Given the description of an element on the screen output the (x, y) to click on. 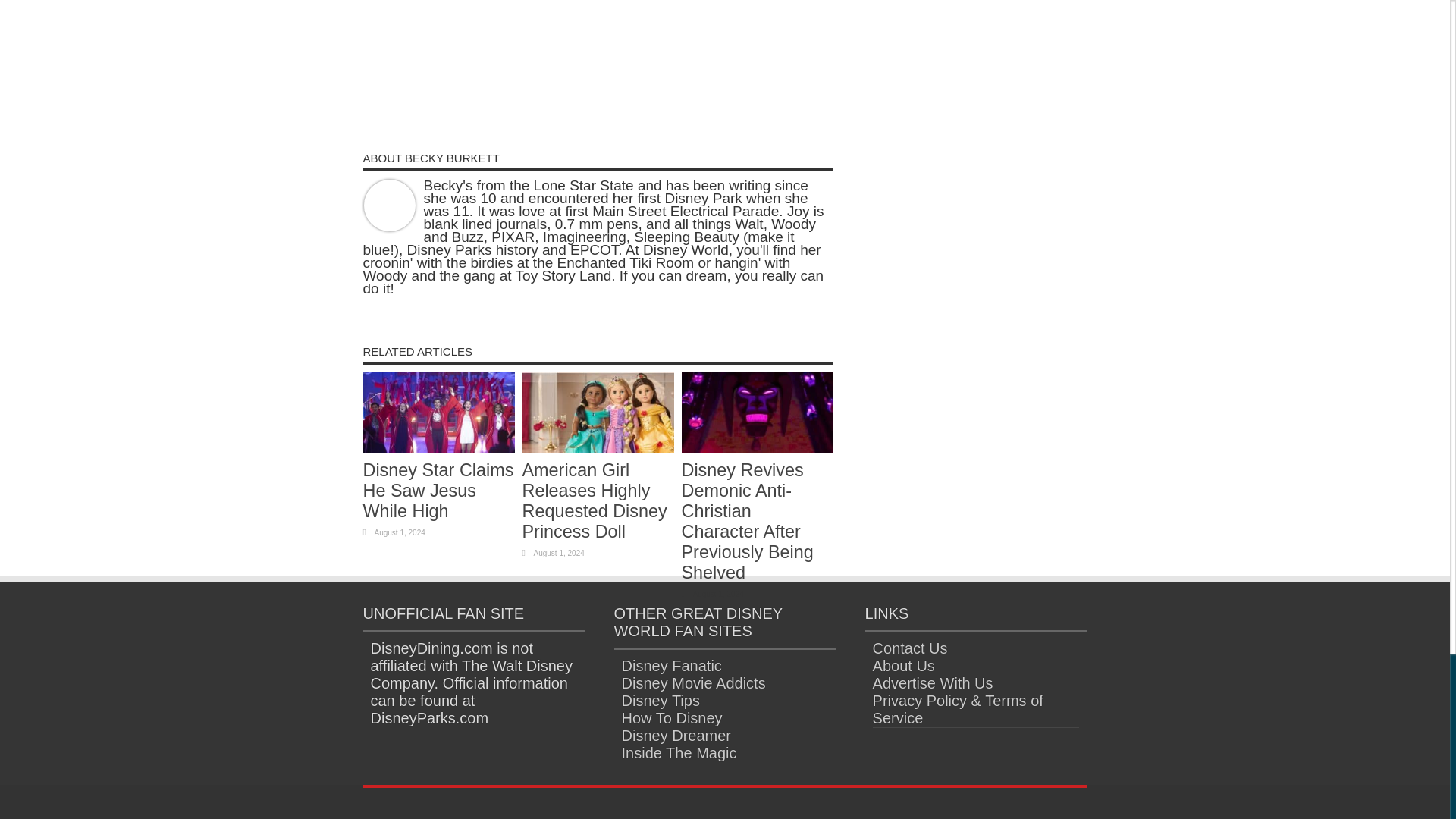
Permalink to Disney Star Claims He Saw Jesus While High (437, 490)
Disney Star Claims He Saw Jesus While High (437, 490)
Permalink to Disney Star Claims He Saw Jesus While High (437, 446)
American Girl Releases Highly Requested Disney Princess Doll (593, 500)
